Given the description of an element on the screen output the (x, y) to click on. 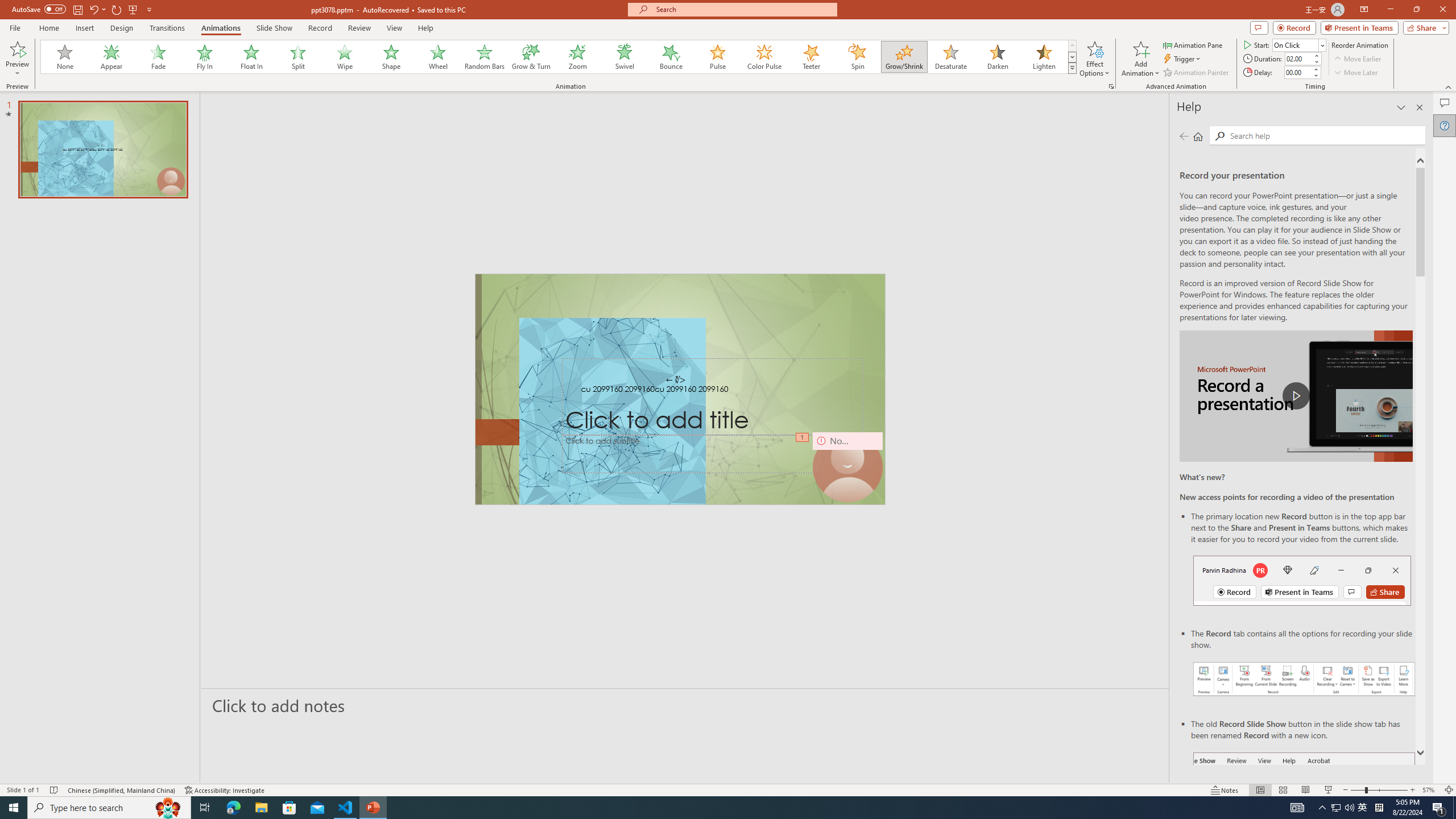
Trigger (1182, 58)
Animation Pane (1193, 44)
Teeter (810, 56)
None (65, 56)
